Given the description of an element on the screen output the (x, y) to click on. 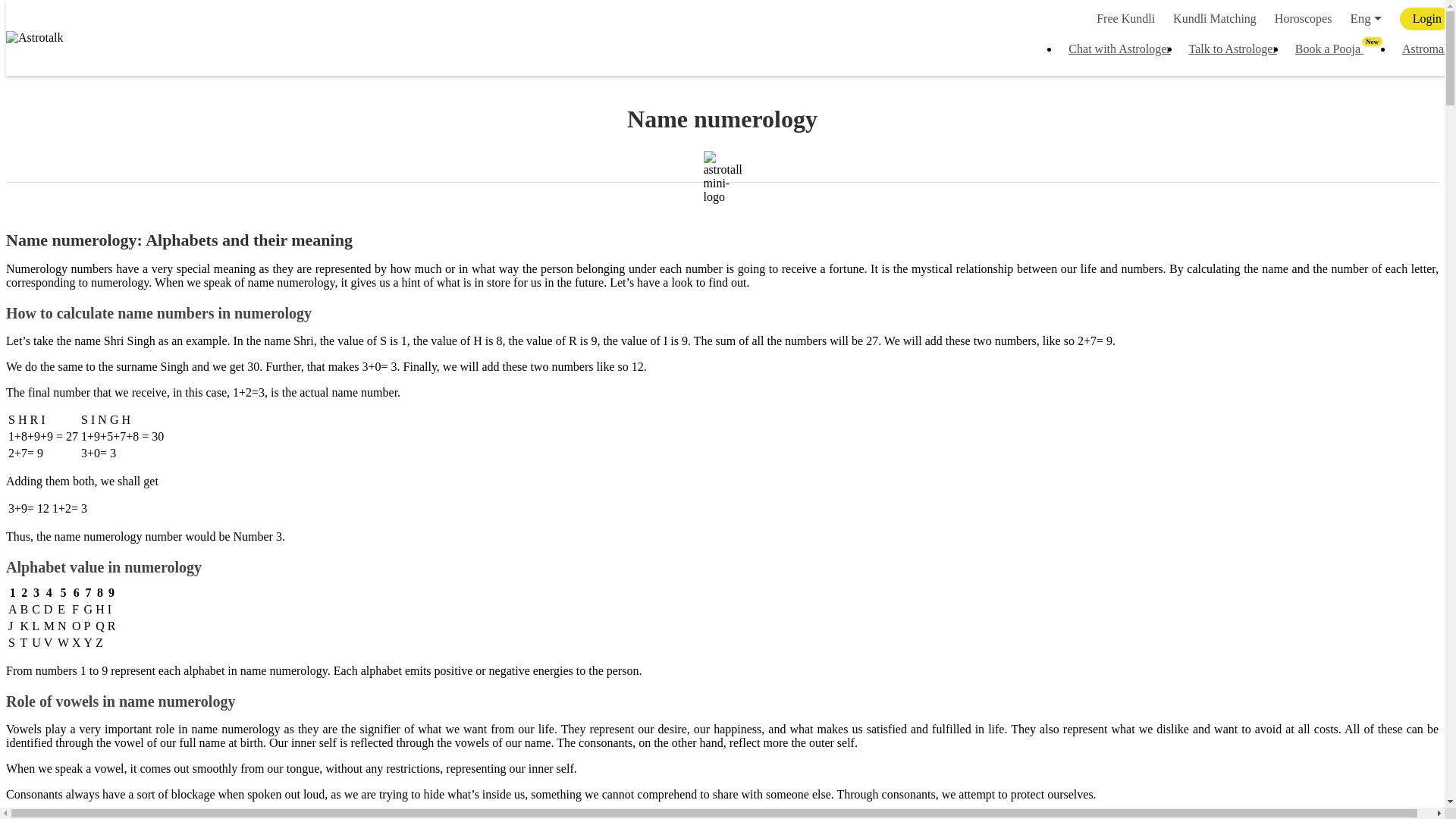
Astromall (1421, 48)
Kundli Matching (1214, 18)
Chat with Astrologer (1119, 48)
Talk to Astrologer (1232, 48)
Free Kundli (1339, 48)
